Given the description of an element on the screen output the (x, y) to click on. 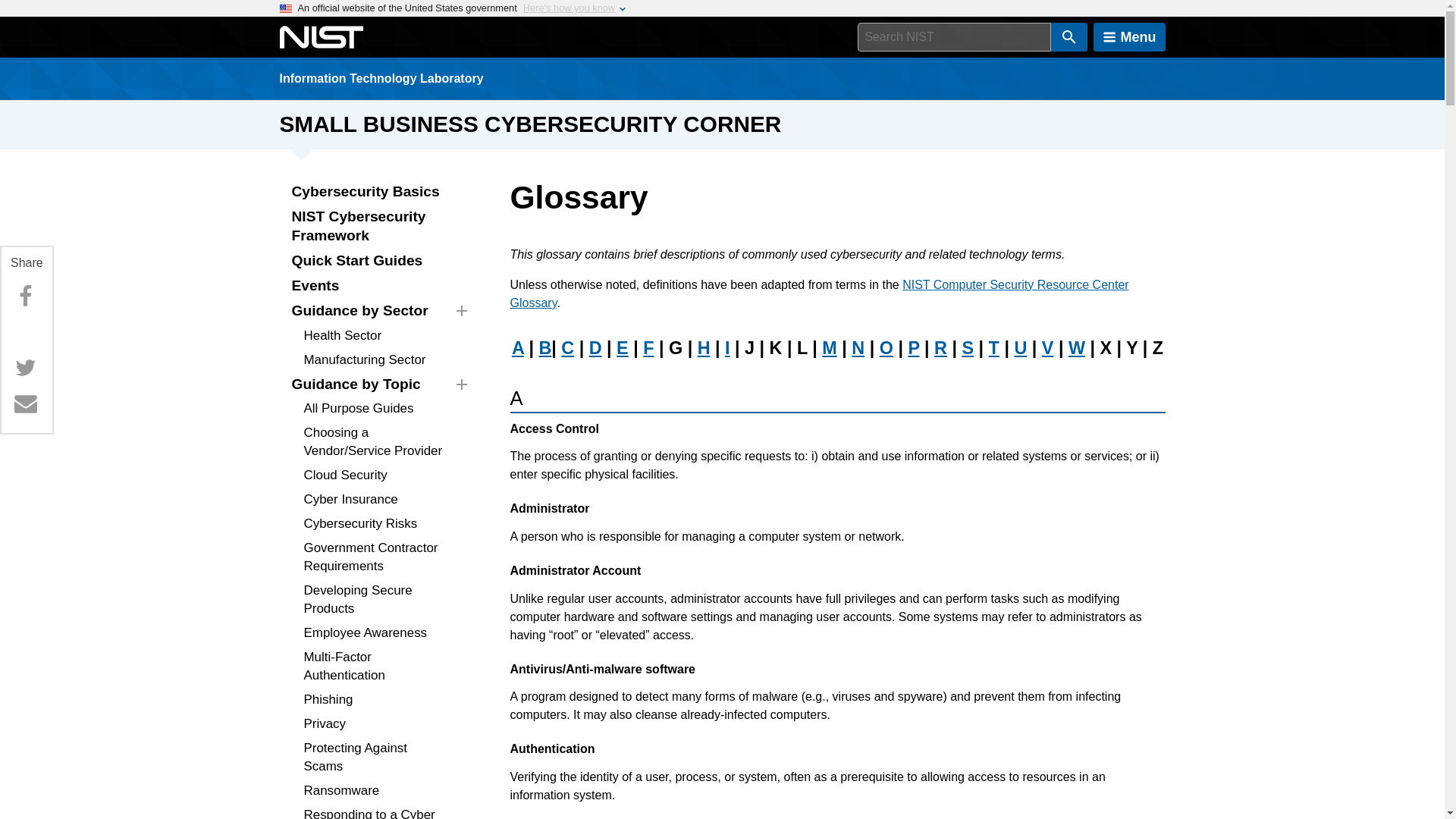
Linkedin (25, 331)
National Institute of Standards and Technology (320, 36)
Email (25, 403)
Twitter (25, 367)
Menu (1129, 36)
Facebook (25, 296)
